Given the description of an element on the screen output the (x, y) to click on. 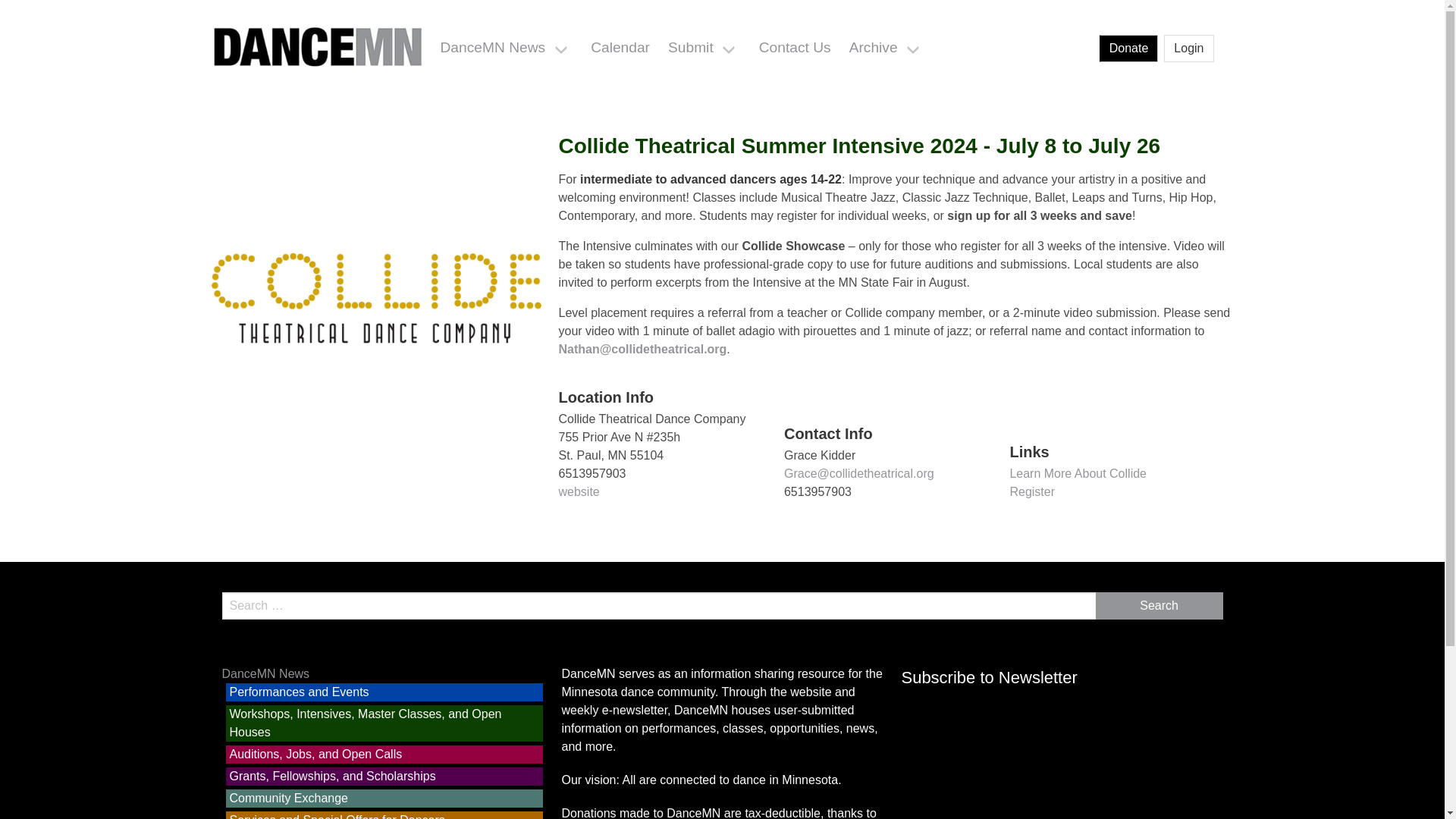
Donate (1128, 48)
DanceMN News (505, 47)
Login (1187, 48)
Search (1159, 605)
Archive (887, 47)
Submit (704, 47)
Submit (704, 47)
Search (1159, 605)
Contact Us (794, 47)
website (577, 491)
